Given the description of an element on the screen output the (x, y) to click on. 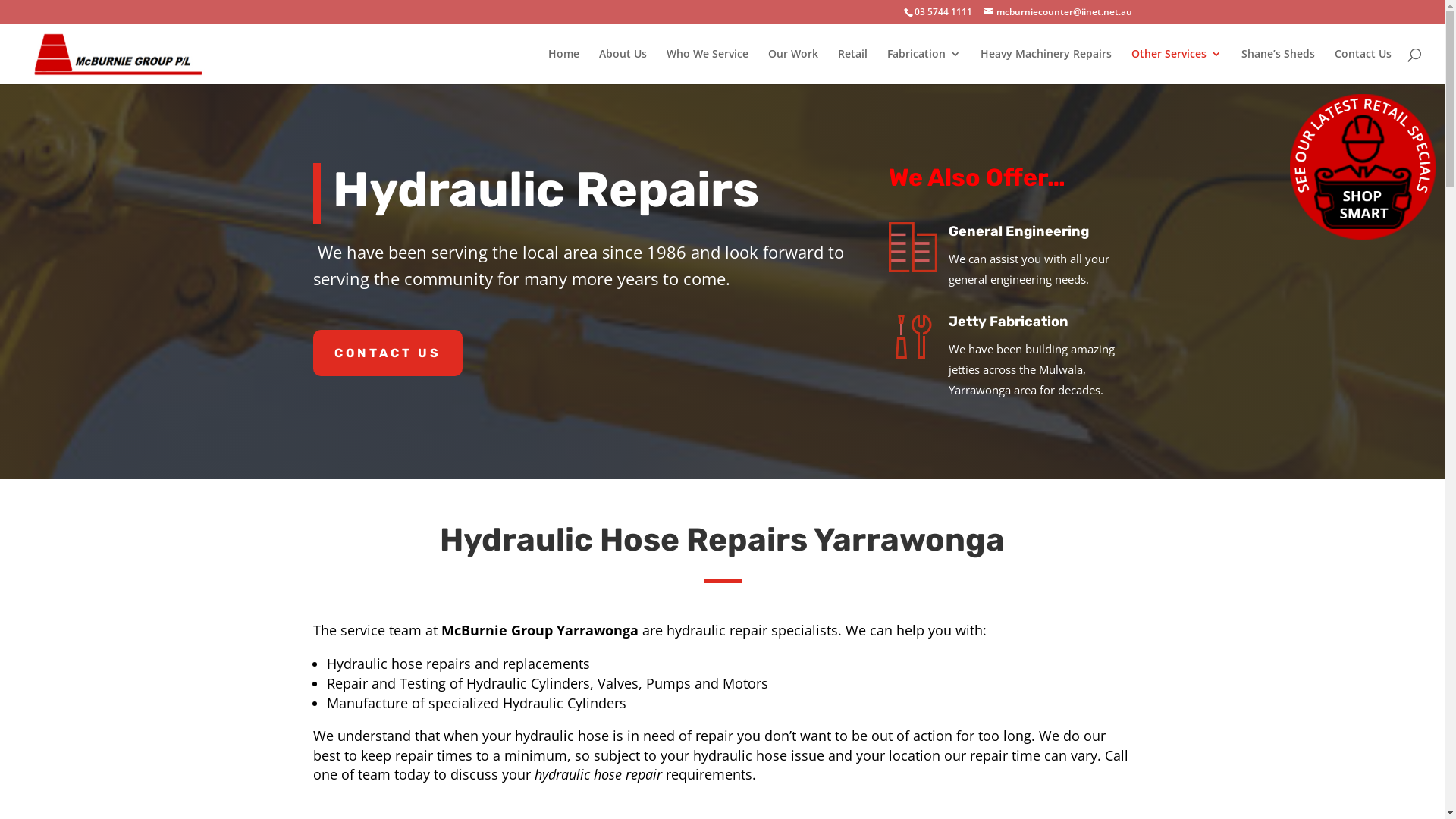
Heavy Machinery Repairs Element type: text (1045, 66)
Fabrication Element type: text (923, 66)
About Us Element type: text (622, 66)
CONTACT US Element type: text (386, 352)
Other Services Element type: text (1176, 66)
Our Work Element type: text (793, 66)
Who We Service Element type: text (707, 66)
Contact Us Element type: text (1362, 66)
Home Element type: text (563, 66)
mcburniecounter@iinet.net.au Element type: text (1058, 11)
Retail Element type: text (852, 66)
